Given the description of an element on the screen output the (x, y) to click on. 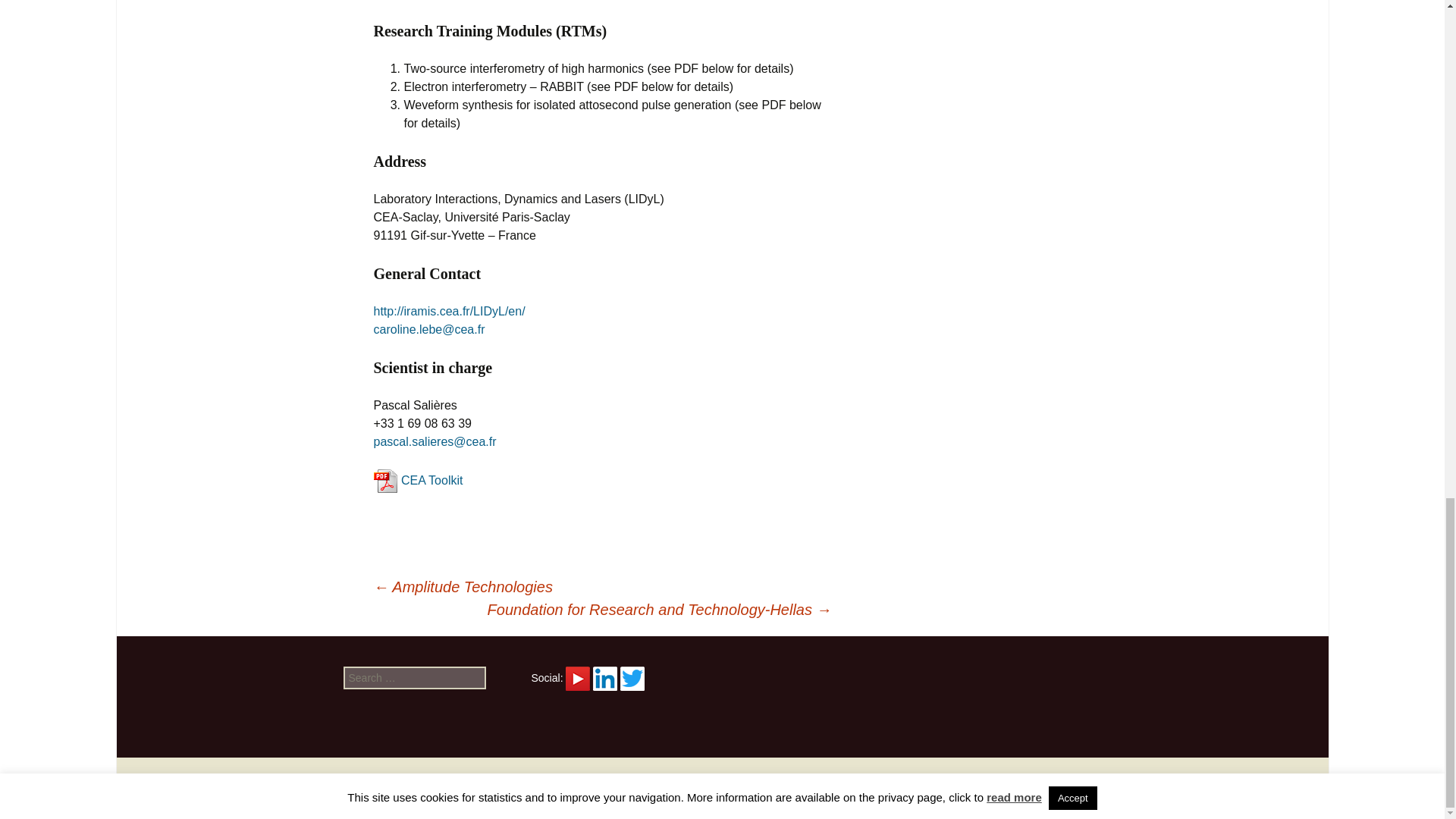
Linkedin (604, 678)
Twitter (632, 678)
YouTube (577, 677)
